Given the description of an element on the screen output the (x, y) to click on. 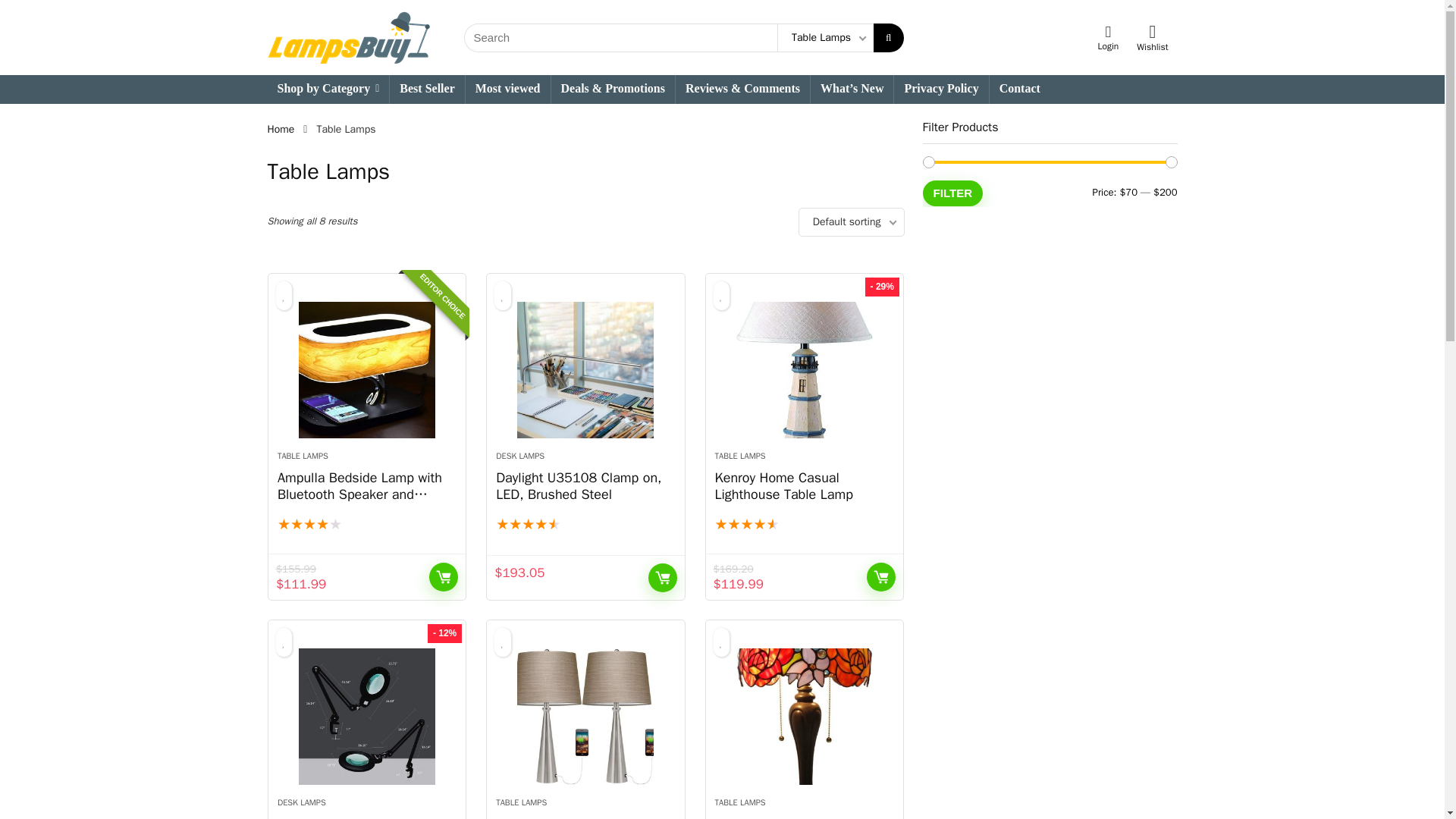
DESK LAMPS (520, 455)
Rated 9.5 out of 10 (803, 524)
Rated 8.5 out of 10 (367, 524)
Best Seller (427, 89)
Rated 9.5 out of 10 (585, 524)
Privacy Policy (940, 89)
Daylight U35108 Clamp on, LED, Brushed Steel (578, 485)
Home (280, 128)
TABLE LAMPS (303, 455)
